Given the description of an element on the screen output the (x, y) to click on. 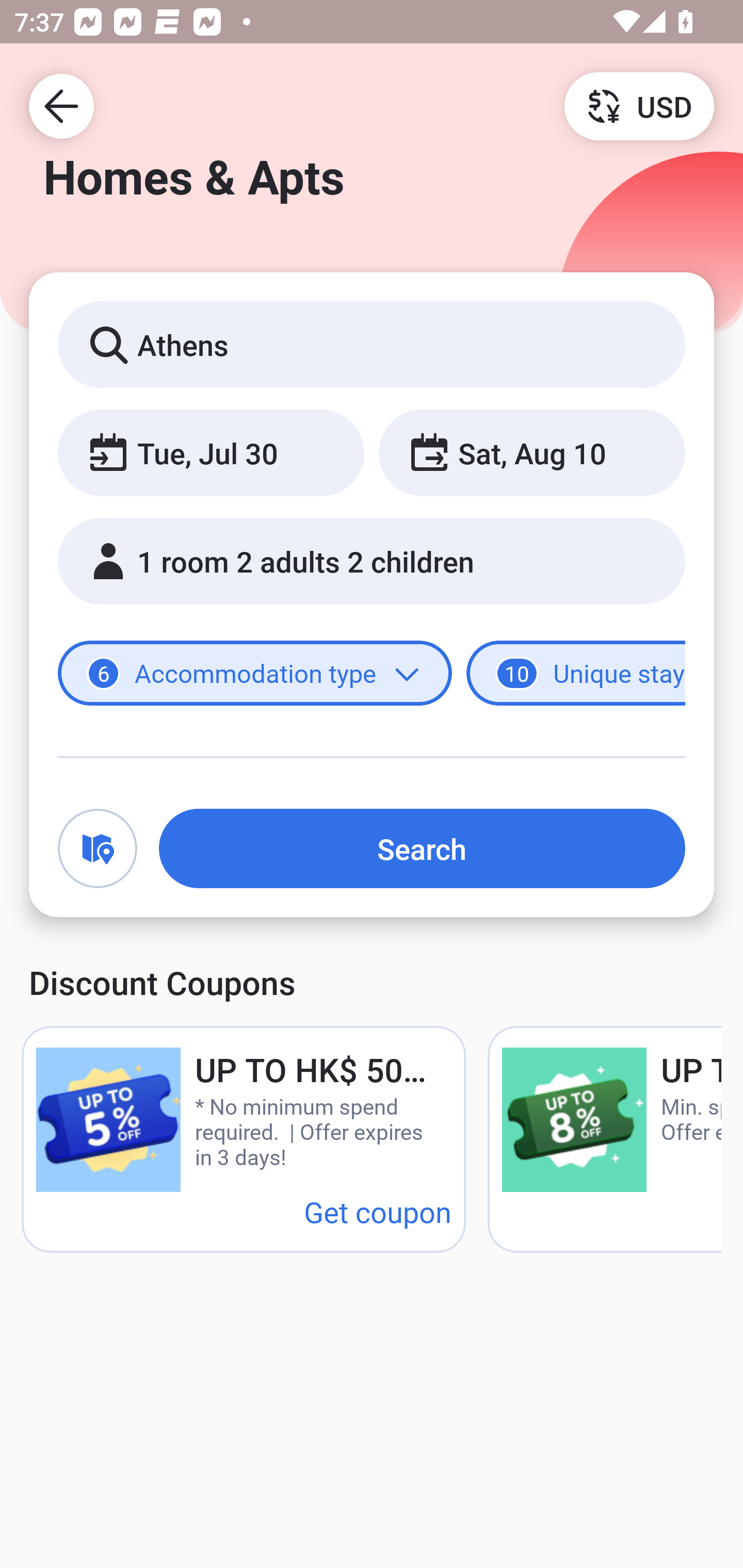
USD (639, 105)
Athens (371, 344)
Tue, Jul 30 (210, 452)
Sat, Aug 10 (531, 452)
1 room 2 adults 2 children (371, 561)
6 Accommodation type (254, 673)
10 Unique stays (575, 673)
Search (422, 848)
Get coupon (377, 1211)
